Given the description of an element on the screen output the (x, y) to click on. 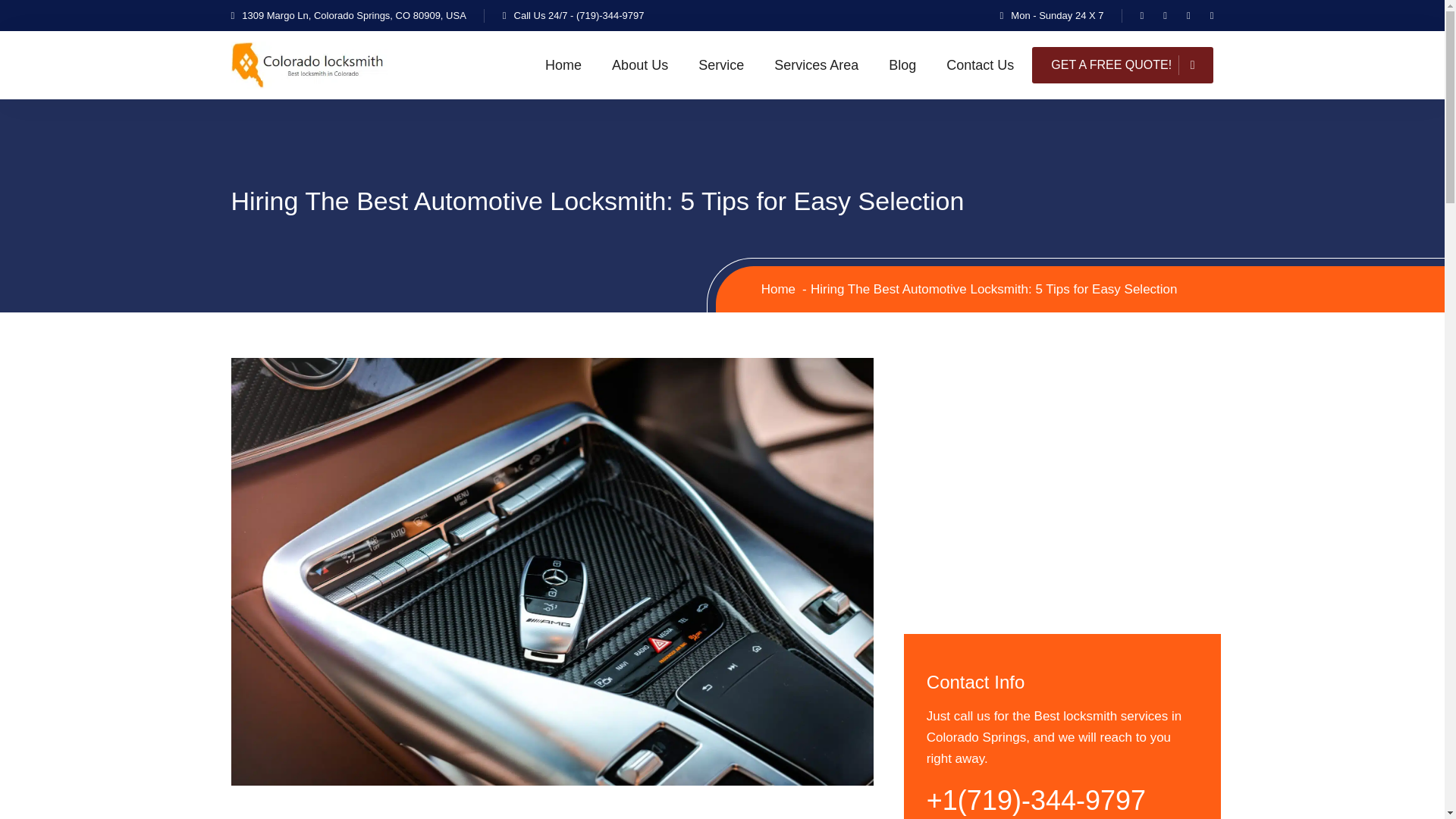
Services Area (816, 64)
GET A FREE QUOTE! (1122, 64)
Home (777, 288)
Service (721, 64)
Home (562, 64)
YouTube video player (1062, 477)
About Us (639, 64)
Contact Us (979, 64)
